Given the description of an element on the screen output the (x, y) to click on. 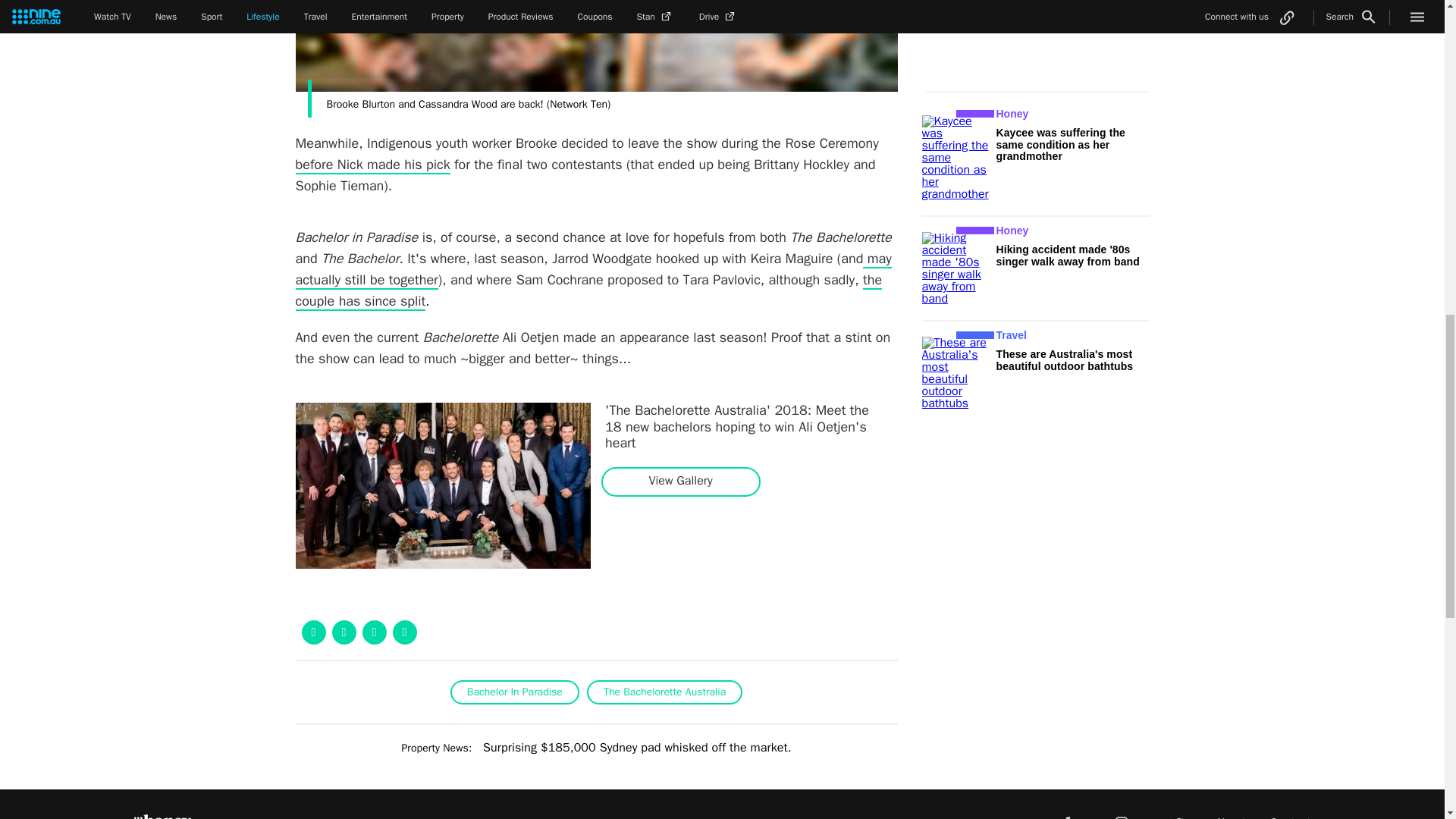
who may actually be back together (593, 269)
facebook (1066, 812)
before Nick made his pick (372, 165)
instagram (1121, 812)
the couple has since split (588, 291)
 may actually still be together (593, 269)
before Nick made his pick (372, 165)
the couple has since split (588, 291)
twitter (1175, 812)
